Given the description of an element on the screen output the (x, y) to click on. 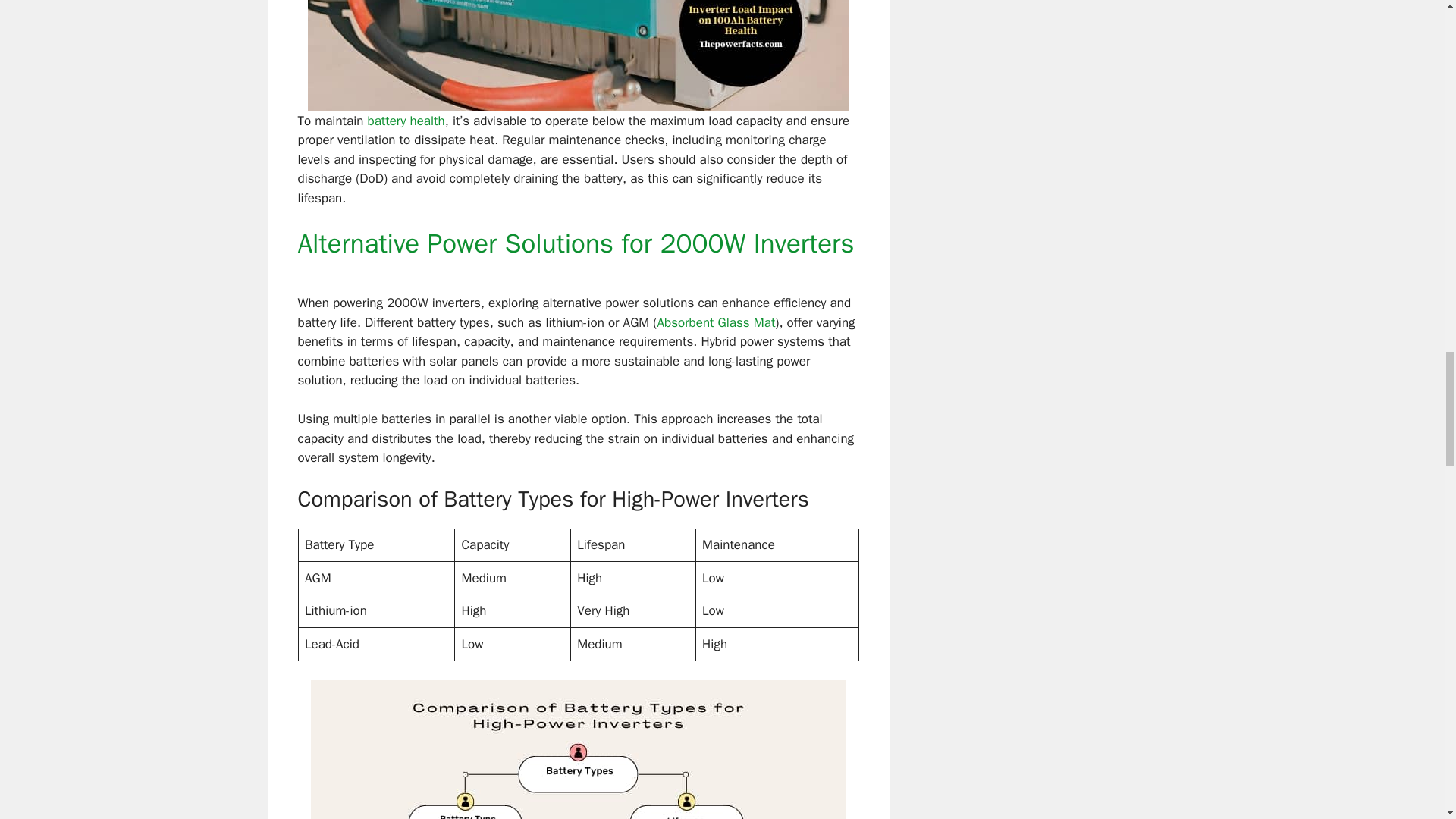
Will a 100Ah Battery Run a 2000W Inverter 2 (577, 55)
Will a 100Ah Battery Run a 2000W Inverter 3 (578, 749)
battery health (406, 120)
Absorbent Glass Mat (715, 322)
